Given the description of an element on the screen output the (x, y) to click on. 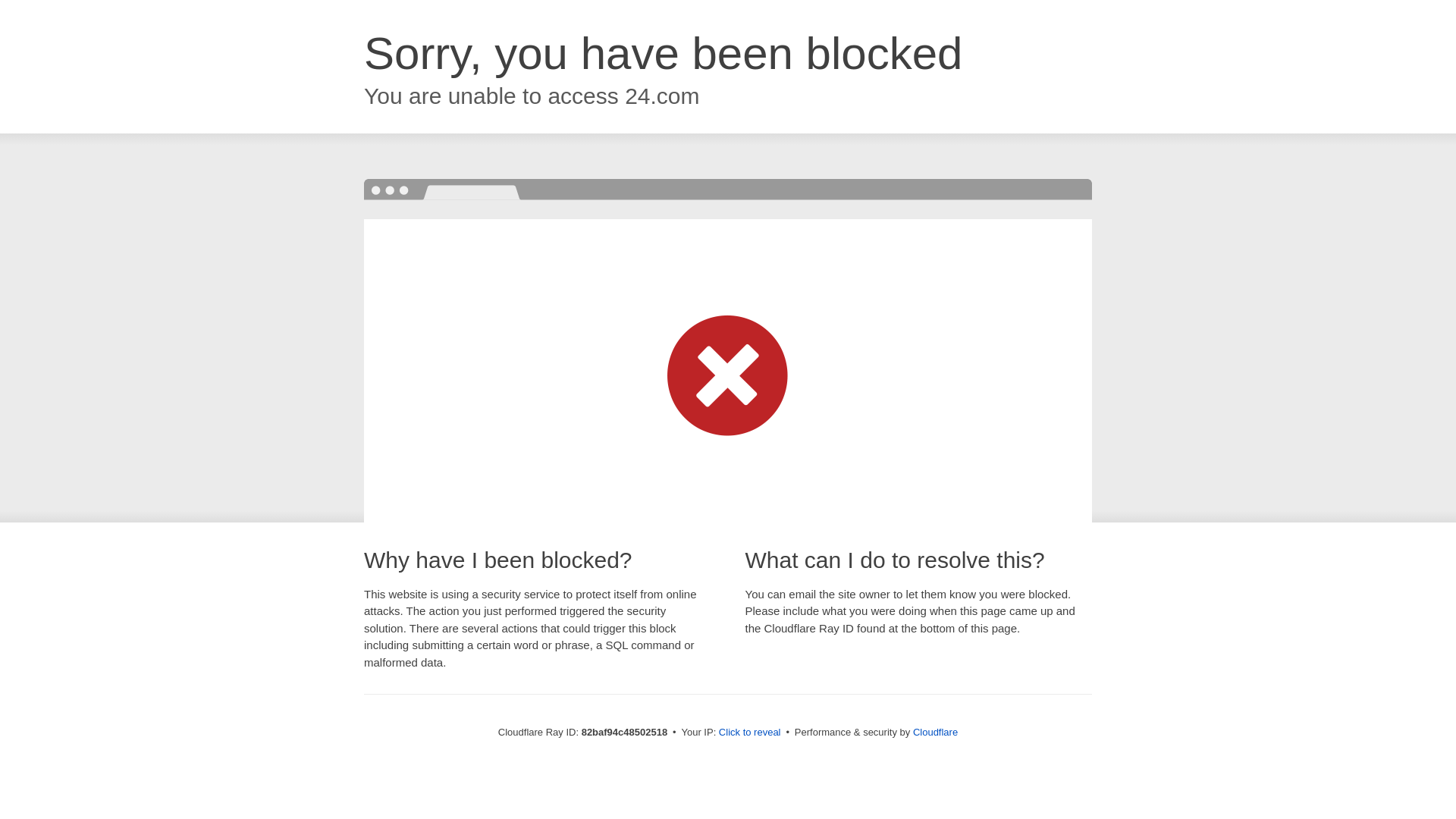
Cloudflare Element type: text (935, 731)
Click to reveal Element type: text (749, 732)
